Given the description of an element on the screen output the (x, y) to click on. 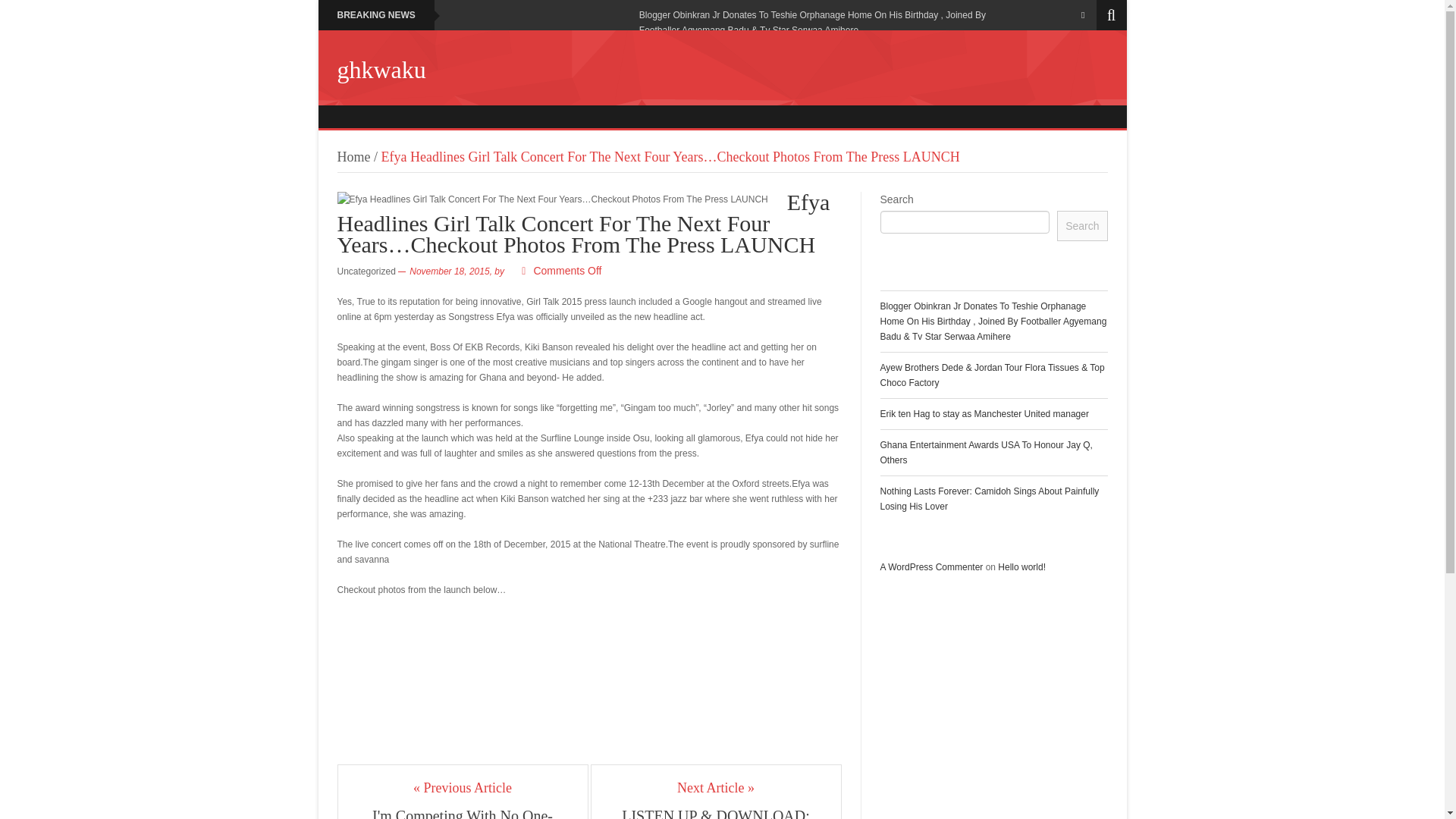
I'm Competing With No One- Mzvee (462, 812)
Hello world! (1021, 566)
A WordPress Commenter (930, 566)
Ghana Entertainment Awards USA To Honour Jay Q, Others (985, 452)
Search (1081, 225)
ghkwaku (380, 69)
Home (352, 156)
Erik ten Hag to stay as Manchester United manager (983, 413)
